Given the description of an element on the screen output the (x, y) to click on. 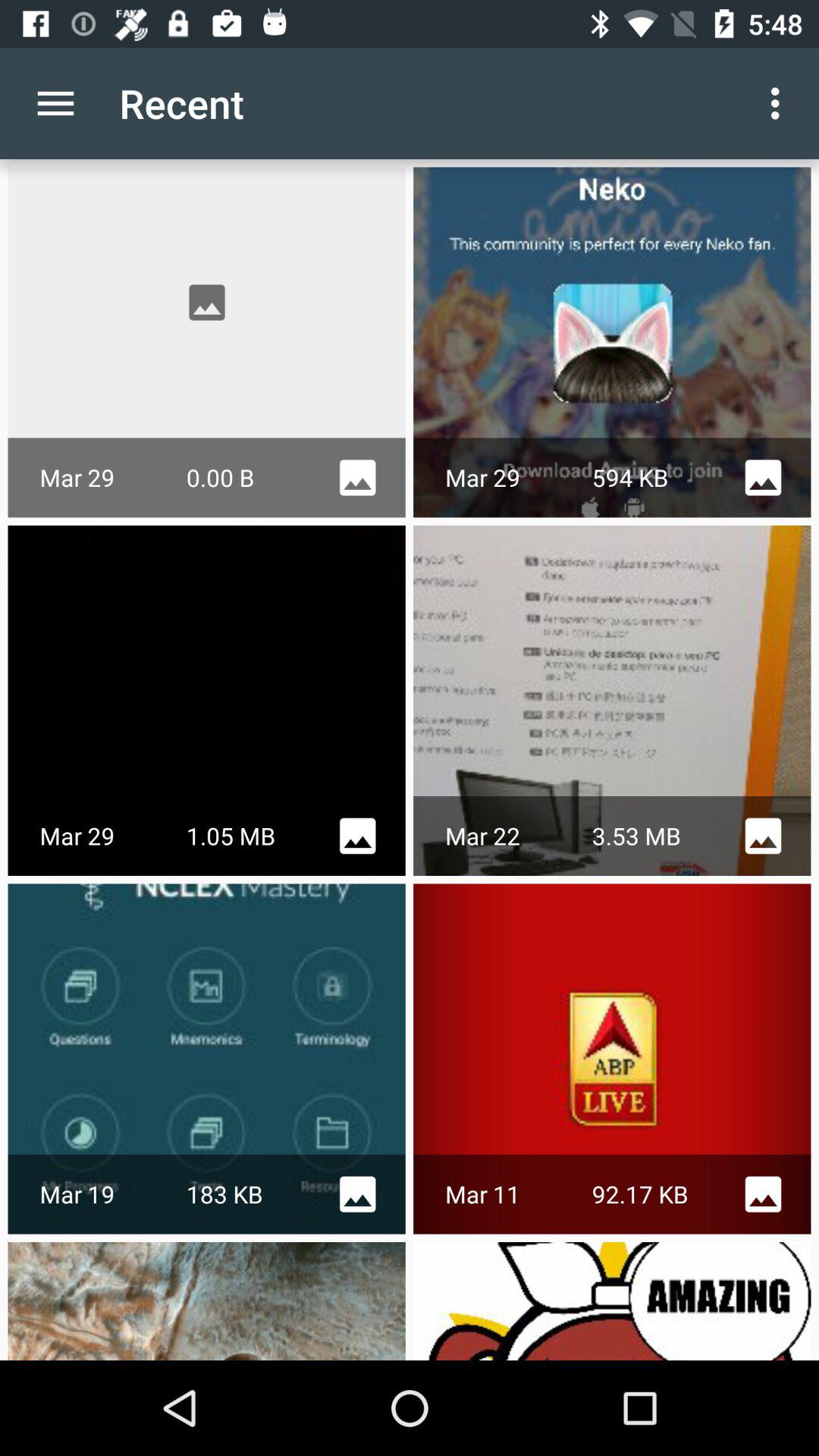
choose the item to the right of recent item (779, 103)
